Given the description of an element on the screen output the (x, y) to click on. 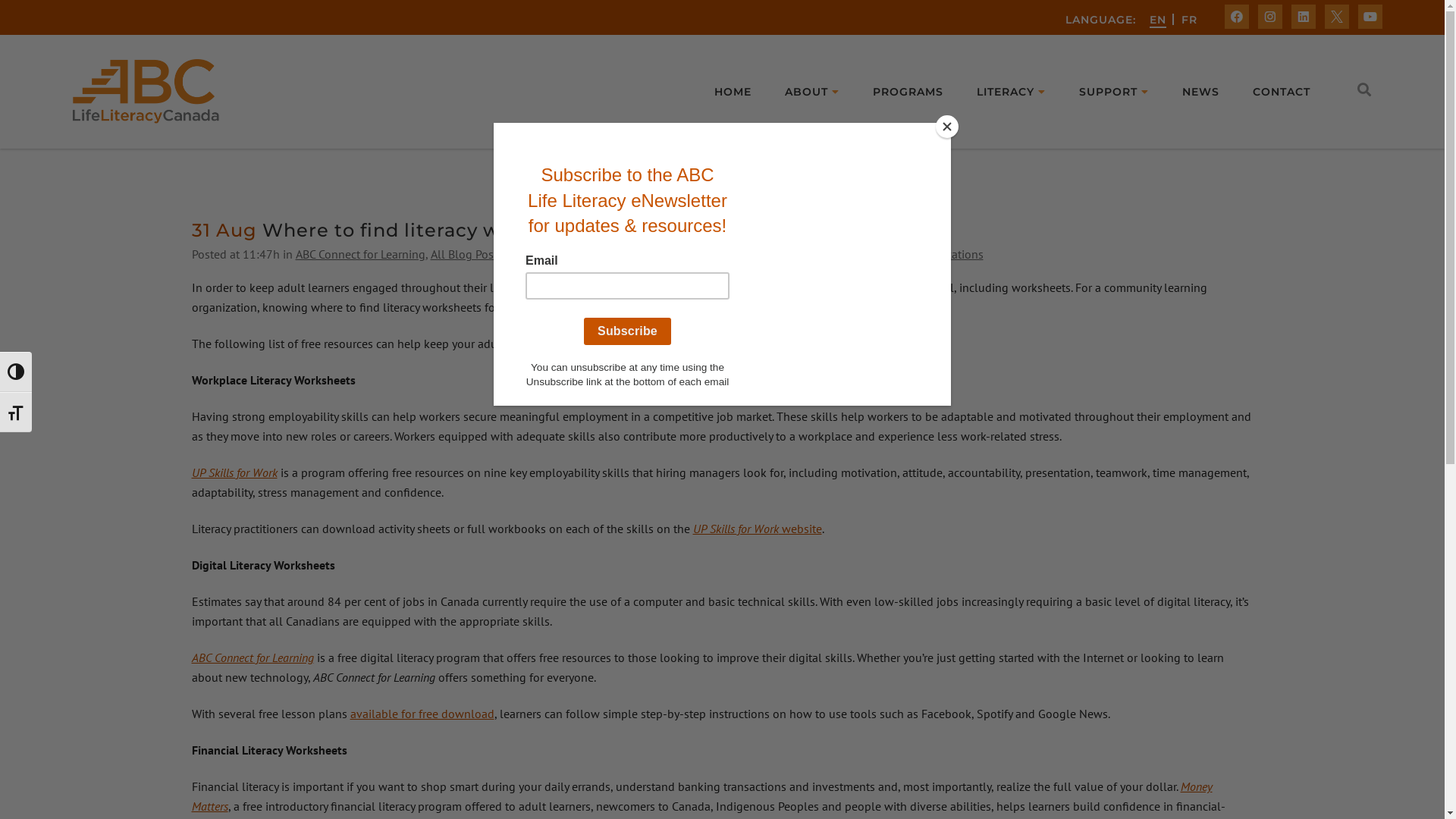
PROGRAMS Element type: text (908, 91)
HOME Element type: text (732, 91)
Skills for Success Day Element type: text (726, 253)
SUPPORT Element type: text (1113, 91)
UP Skills for Work website Element type: text (757, 528)
Money Matters Element type: text (627, 253)
FR Element type: text (1188, 19)
ABC Connect for Learning Element type: text (360, 253)
ABC Connect for Learning Element type: text (252, 657)
communications Element type: text (940, 253)
CONTACT Element type: text (1281, 91)
EN Element type: text (1157, 19)
Money Matters Element type: text (701, 795)
available for free download Element type: text (422, 713)
Toggle High Contrast Element type: text (15, 371)
LITERACY Element type: text (1011, 91)
UP Skills for Work Element type: text (233, 472)
Toggle Font size Element type: text (15, 412)
ABOUT Element type: text (812, 91)
UP Skills for Work Element type: text (834, 253)
NEWS Element type: text (1200, 91)
Health Matters Element type: text (546, 253)
All Blog Posts Element type: text (466, 253)
